Given the description of an element on the screen output the (x, y) to click on. 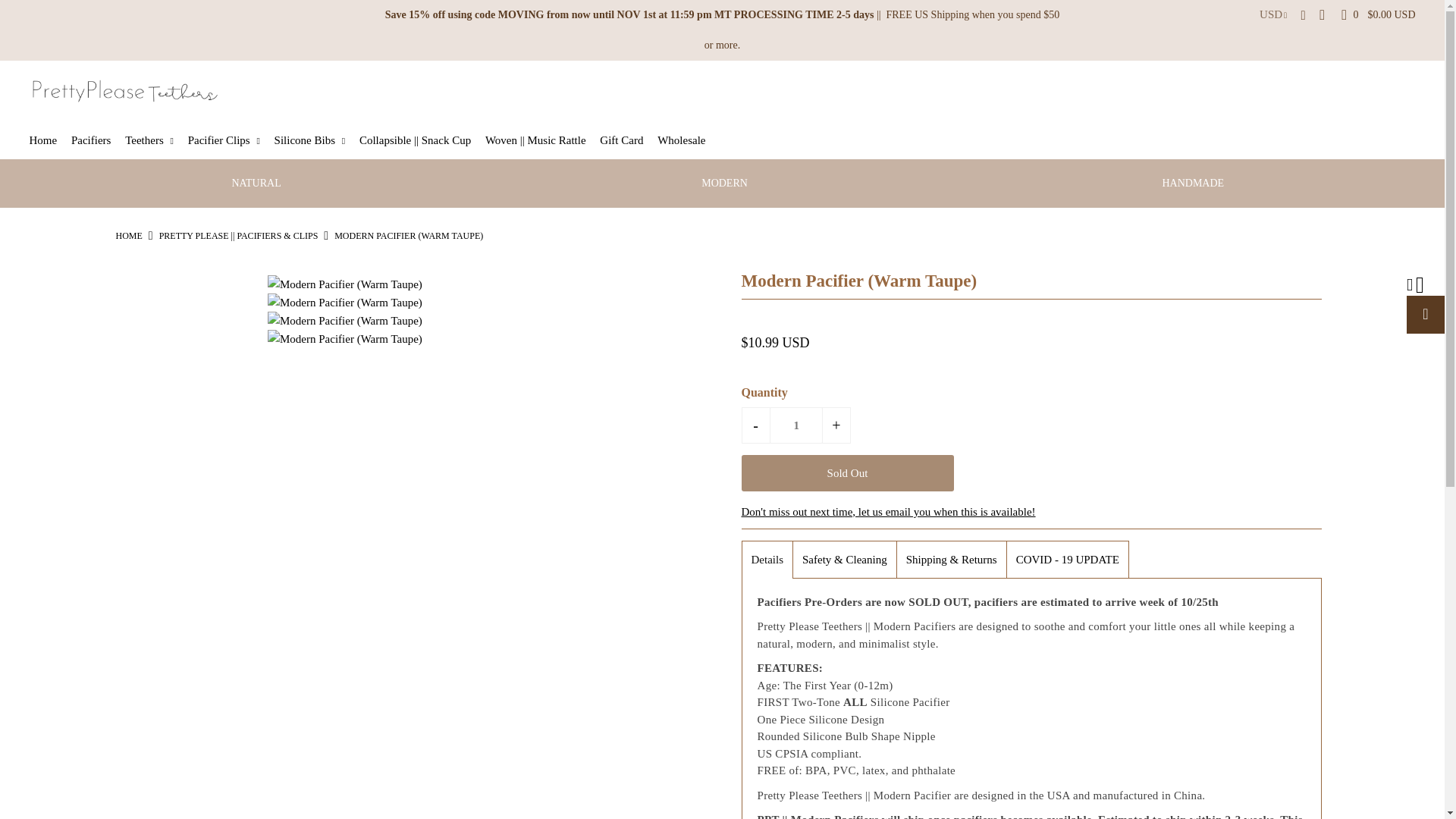
Home (128, 235)
Home (48, 140)
Sold Out (847, 473)
Wholesale (687, 140)
HOME (128, 235)
Silicone Bibs (315, 140)
Teethers (154, 140)
1 (796, 425)
Gift Card (626, 140)
Sold Out (847, 473)
Pacifier Clips (228, 140)
Pacifiers (96, 140)
